Given the description of an element on the screen output the (x, y) to click on. 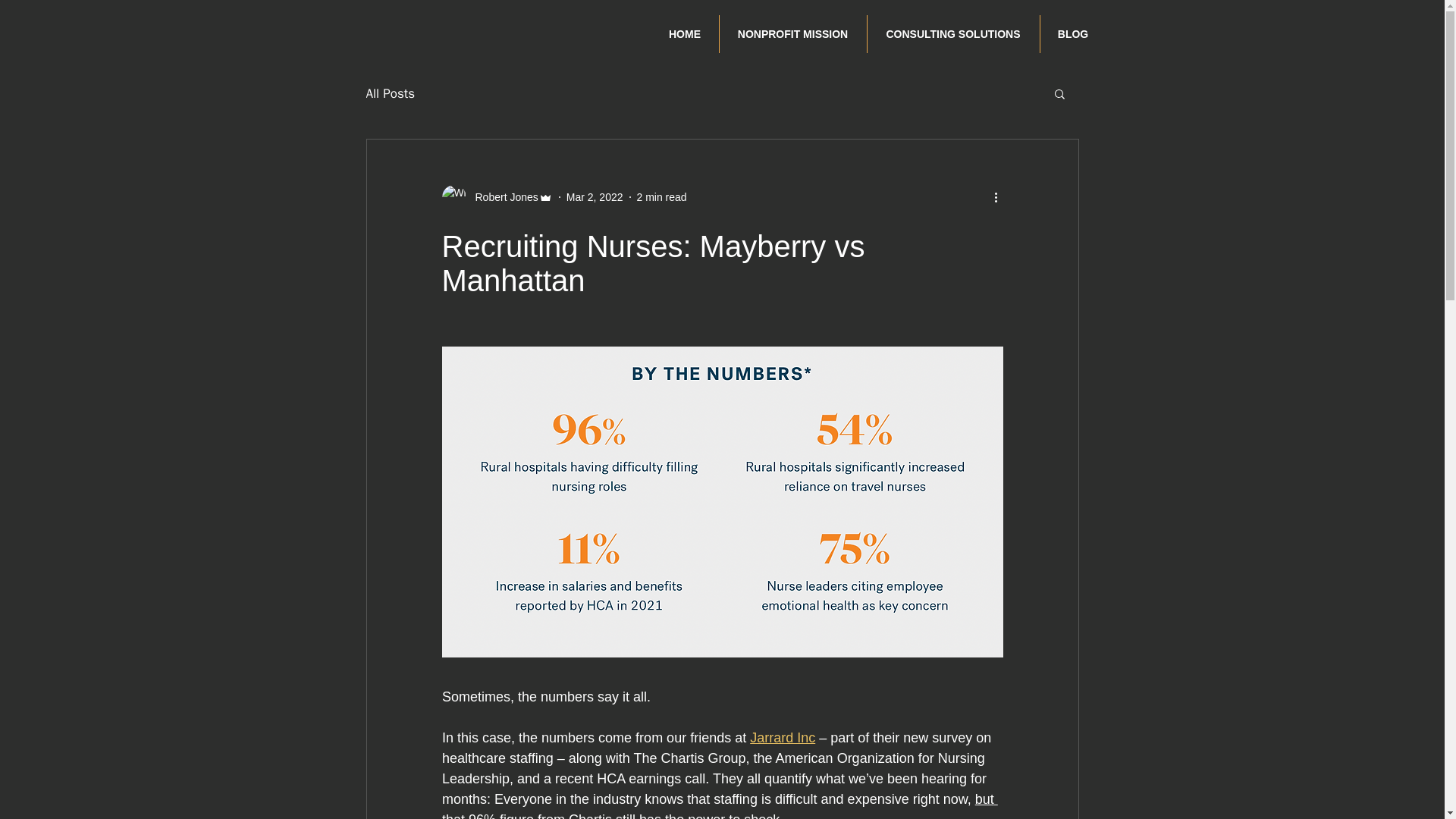
HOME (683, 34)
Jarrard Inc (782, 737)
2 min read (662, 196)
Robert Jones (496, 197)
NONPROFIT MISSION (792, 34)
BLOG (1073, 34)
Robert Jones (501, 197)
Mar 2, 2022 (594, 196)
All Posts (389, 93)
